Given the description of an element on the screen output the (x, y) to click on. 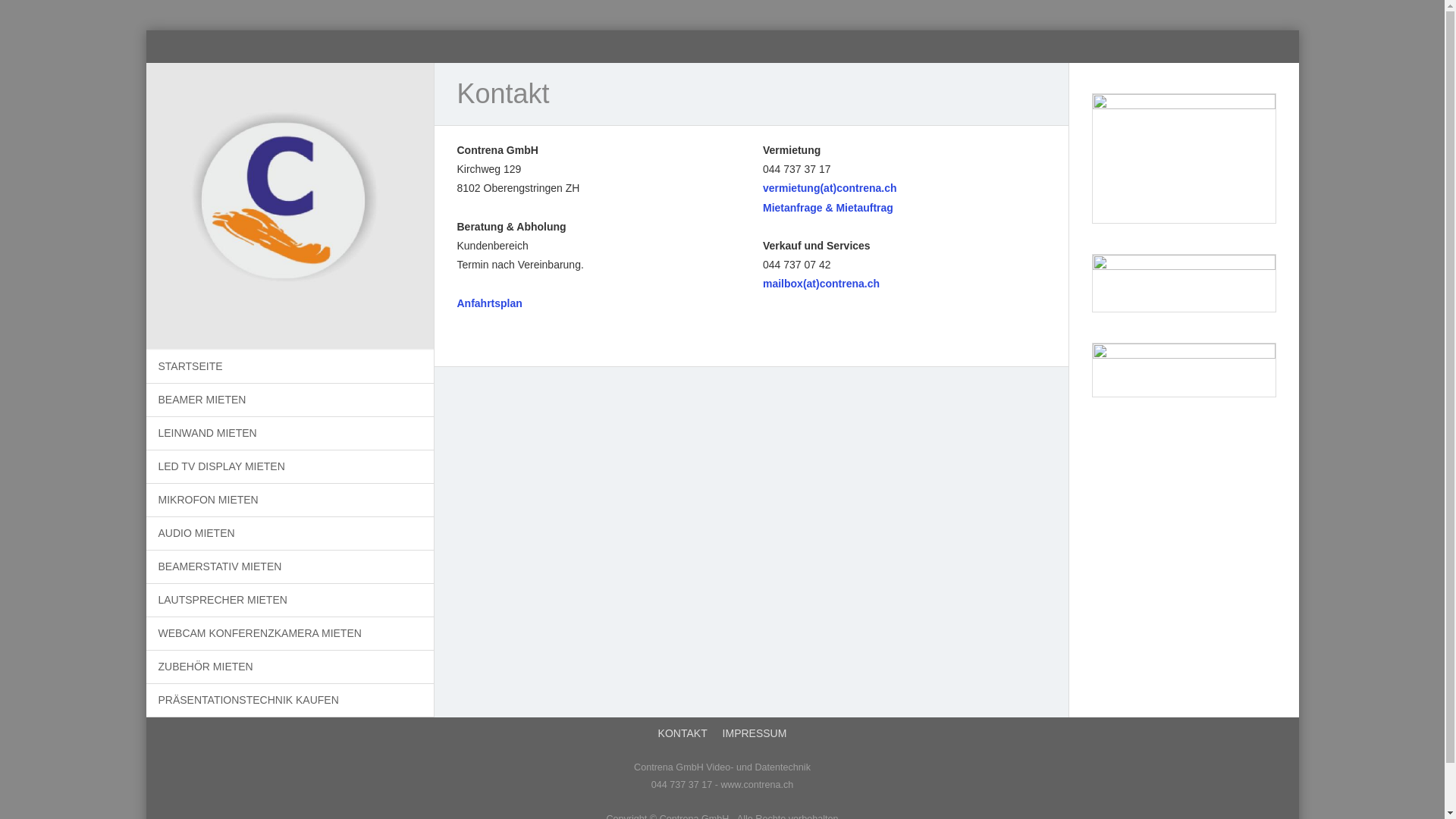
mailbox(at)contrena.ch Element type: text (820, 283)
KONTAKT Element type: text (682, 733)
MIKROFON MIETEN Element type: text (289, 500)
IMPRESSUM Element type: text (754, 733)
WEBCAM KONFERENZKAMERA MIETEN Element type: text (289, 633)
LEINWAND MIETEN Element type: text (289, 433)
LED TV DISPLAY MIETEN Element type: text (289, 466)
STARTSEITE Element type: text (289, 366)
BEAMER MIETEN Element type: text (289, 400)
Anfahrtsplan Element type: text (488, 303)
LAUTSPRECHER MIETEN Element type: text (289, 600)
vermietung(at)contrena.ch Element type: text (829, 188)
AUDIO MIETEN Element type: text (289, 533)
Mietanfrage & Mietauftrag Element type: text (827, 207)
BEAMERSTATIV MIETEN Element type: text (289, 566)
